Given the description of an element on the screen output the (x, y) to click on. 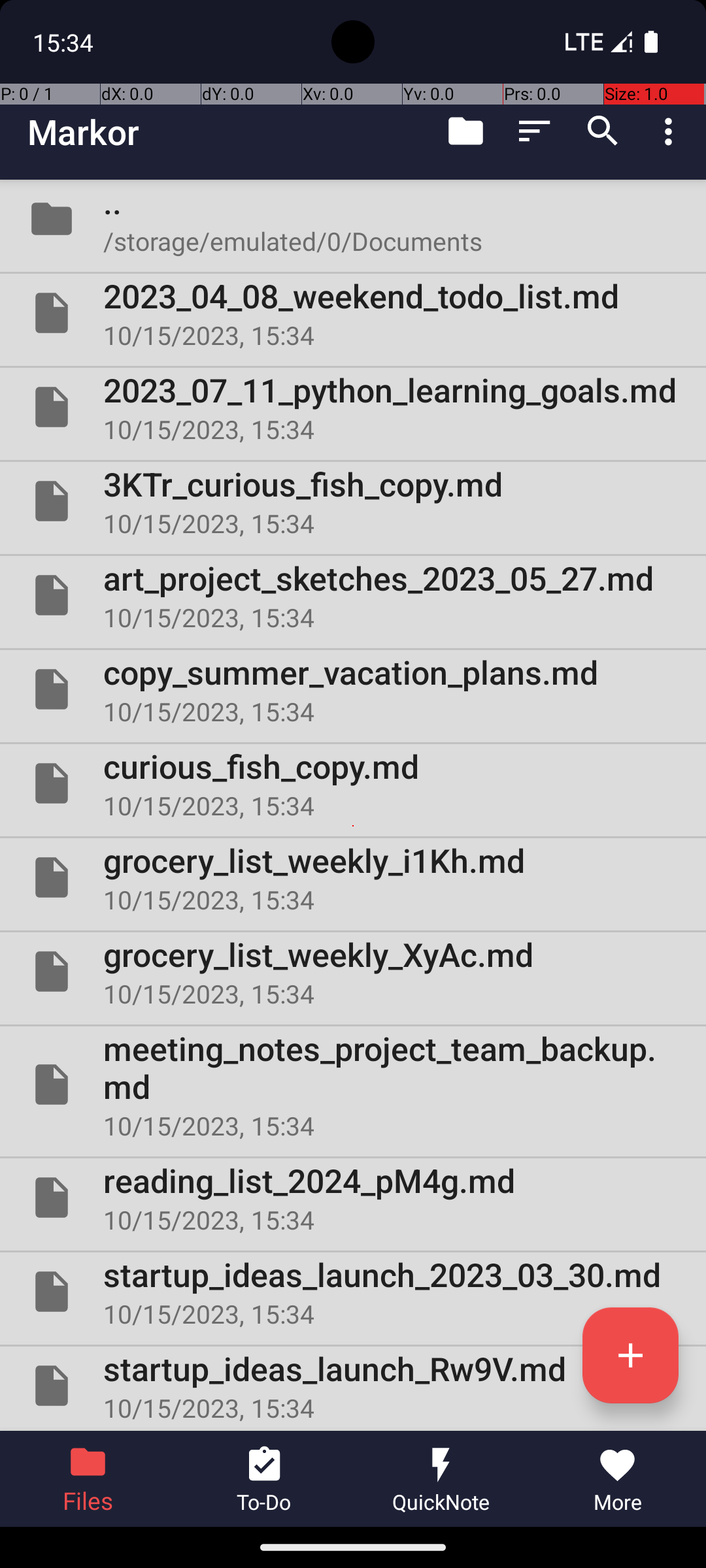
Create a new file or folder Element type: android.widget.ImageButton (630, 1355)
Markor Element type: android.widget.TextView (83, 131)
Go to Element type: android.widget.TextView (465, 131)
Sort by Element type: android.widget.TextView (534, 131)
To-Do Element type: android.widget.FrameLayout (264, 1478)
QuickNote Element type: android.widget.FrameLayout (441, 1478)
More Element type: android.widget.FrameLayout (617, 1478)
Folder ..  Element type: android.widget.LinearLayout (353, 218)
File 2023_04_08_weekend_todo_list.md  Element type: android.widget.LinearLayout (353, 312)
File 2023_07_11_python_learning_goals.md  Element type: android.widget.LinearLayout (353, 406)
File 3KTr_curious_fish_copy.md  Element type: android.widget.LinearLayout (353, 500)
File art_project_sketches_2023_05_27.md  Element type: android.widget.LinearLayout (353, 594)
File copy_summer_vacation_plans.md  Element type: android.widget.LinearLayout (353, 689)
File curious_fish_copy.md  Element type: android.widget.LinearLayout (353, 783)
File grocery_list_weekly_i1Kh.md  Element type: android.widget.LinearLayout (353, 877)
File grocery_list_weekly_XyAc.md  Element type: android.widget.LinearLayout (353, 971)
File meeting_notes_project_team_backup.md  Element type: android.widget.LinearLayout (353, 1084)
File reading_list_2024_pM4g.md  Element type: android.widget.LinearLayout (353, 1197)
File startup_ideas_launch_2023_03_30.md  Element type: android.widget.LinearLayout (353, 1291)
File startup_ideas_launch_Rw9V.md  Element type: android.widget.LinearLayout (353, 1385)
